Given the description of an element on the screen output the (x, y) to click on. 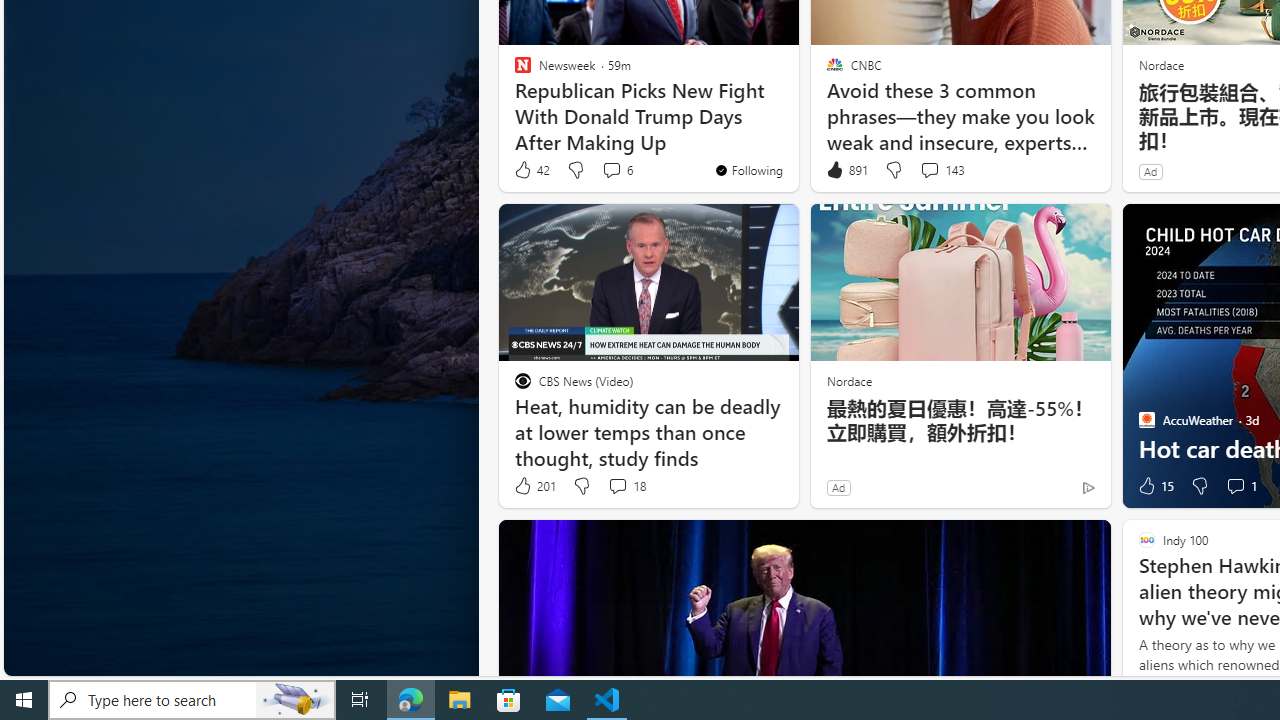
View comments 18 Comment (626, 485)
You're following Newsweek (747, 169)
View comments 6 Comment (616, 170)
